Given the description of an element on the screen output the (x, y) to click on. 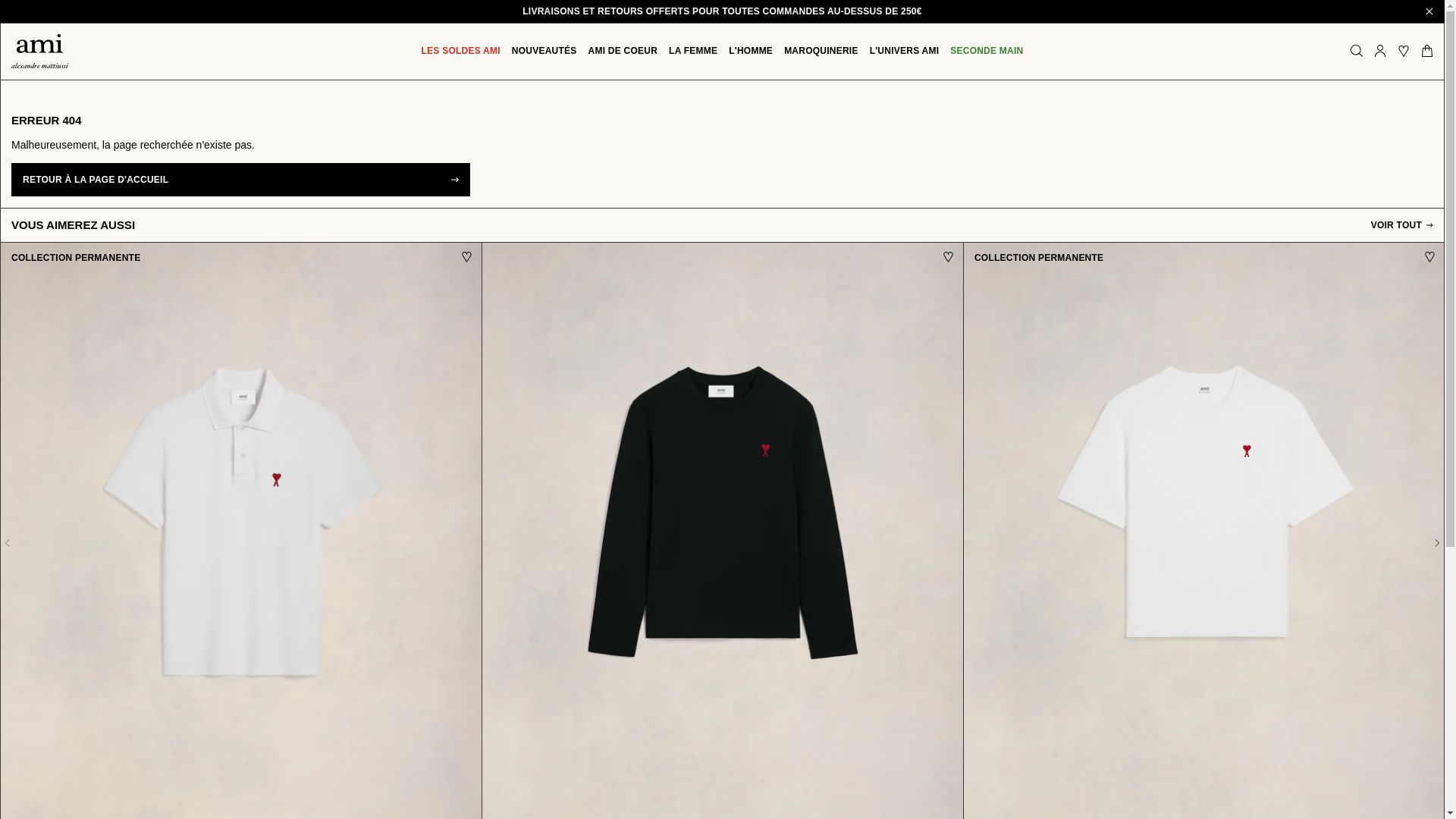
AMI DE COEUR (623, 50)
L'UNIVERS AMI (904, 50)
LES SOLDES AMI (461, 50)
MAROQUINERIE (821, 50)
SECONDE MAIN (986, 50)
